Given the description of an element on the screen output the (x, y) to click on. 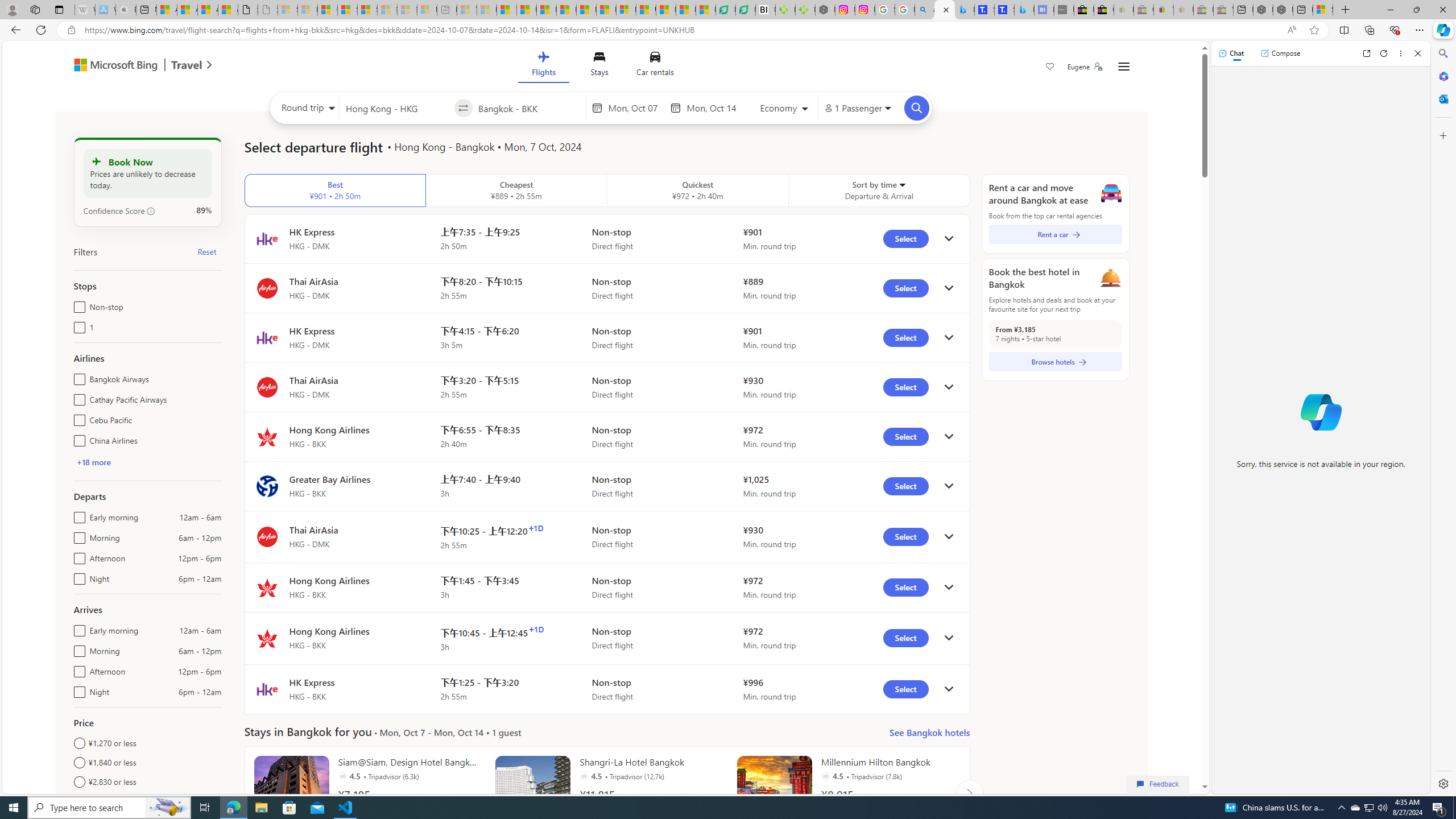
Yard, Garden & Outdoor Living - Sleeping (1222, 9)
Microsoft Bing Travel - Flights from Hong Kong to Bangkok (944, 9)
Class: msft-travel-logo (186, 64)
